Given the description of an element on the screen output the (x, y) to click on. 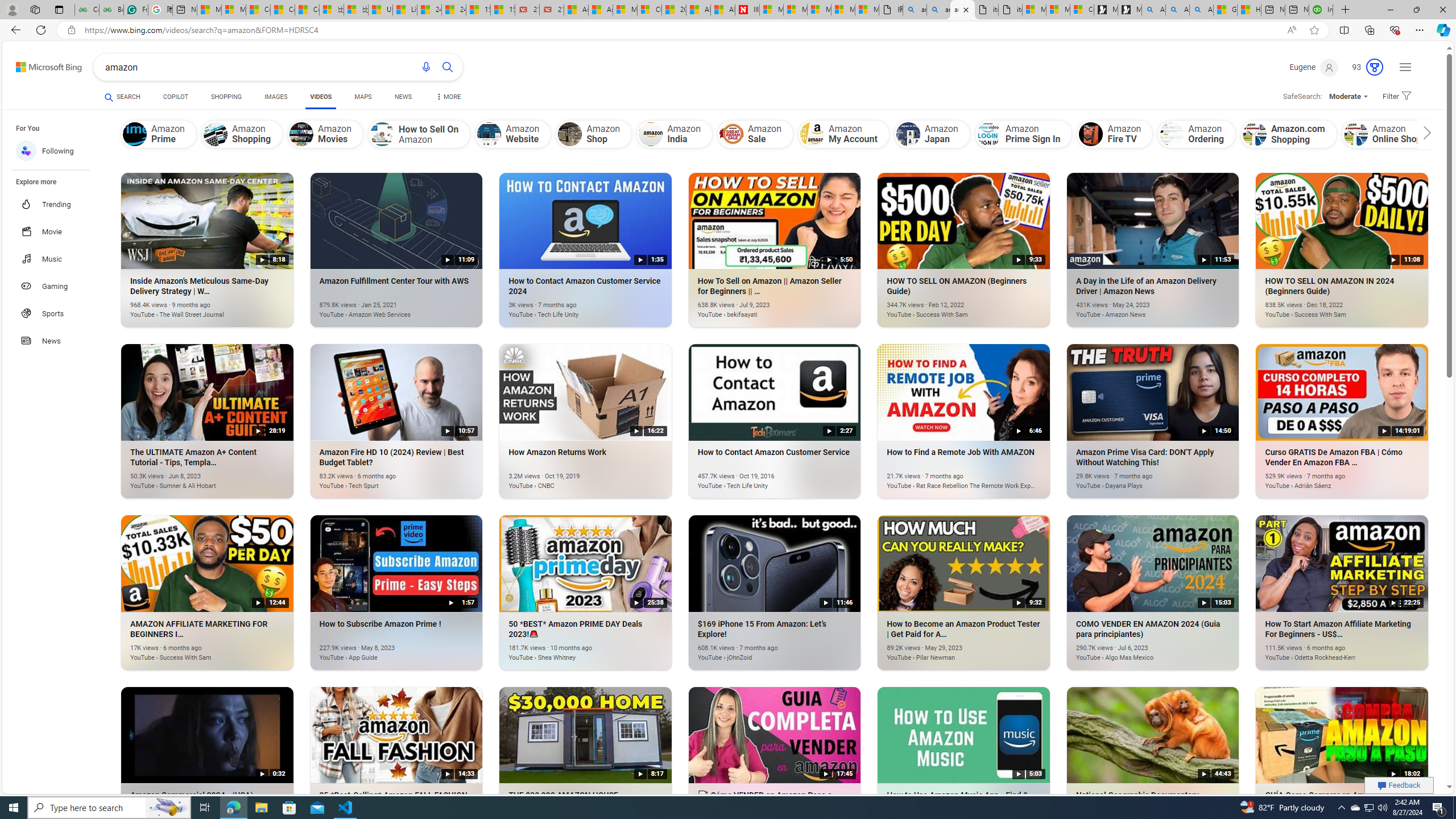
Cloud Computing Services | Microsoft Azure (648, 9)
Amazon My Account (843, 134)
Amazon Ordering (1170, 133)
Amazon Fire HD 10 (2024) Review | Best Budget Tablet? (379, 479)
Amazon Fire TV (1115, 134)
AutomationID: rh_meter (1374, 66)
Sports (56, 313)
itconcepthk.com/projector_solutions.mp4 (1009, 9)
